Given the description of an element on the screen output the (x, y) to click on. 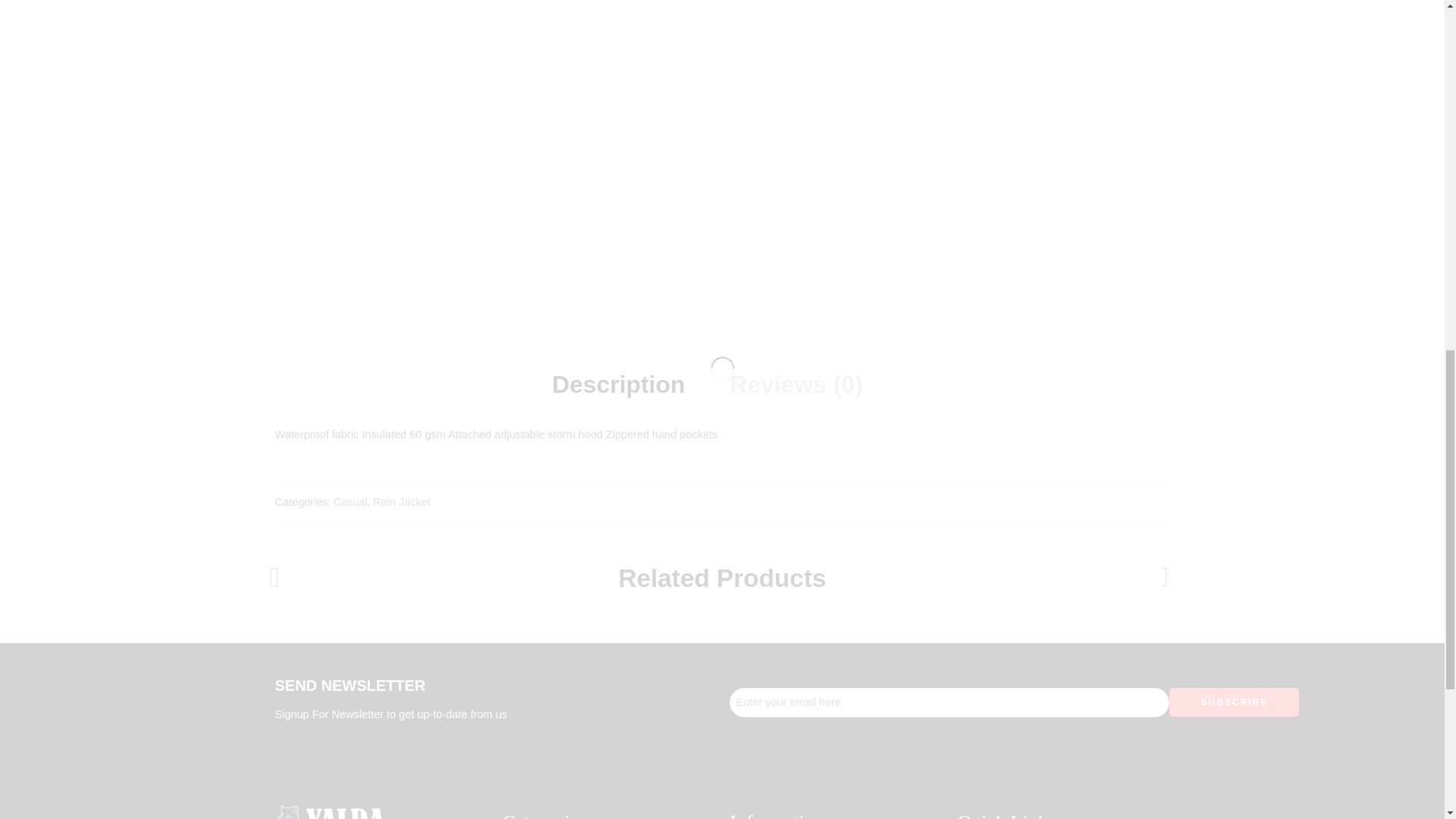
SUBSCRIBE (1233, 701)
